Given the description of an element on the screen output the (x, y) to click on. 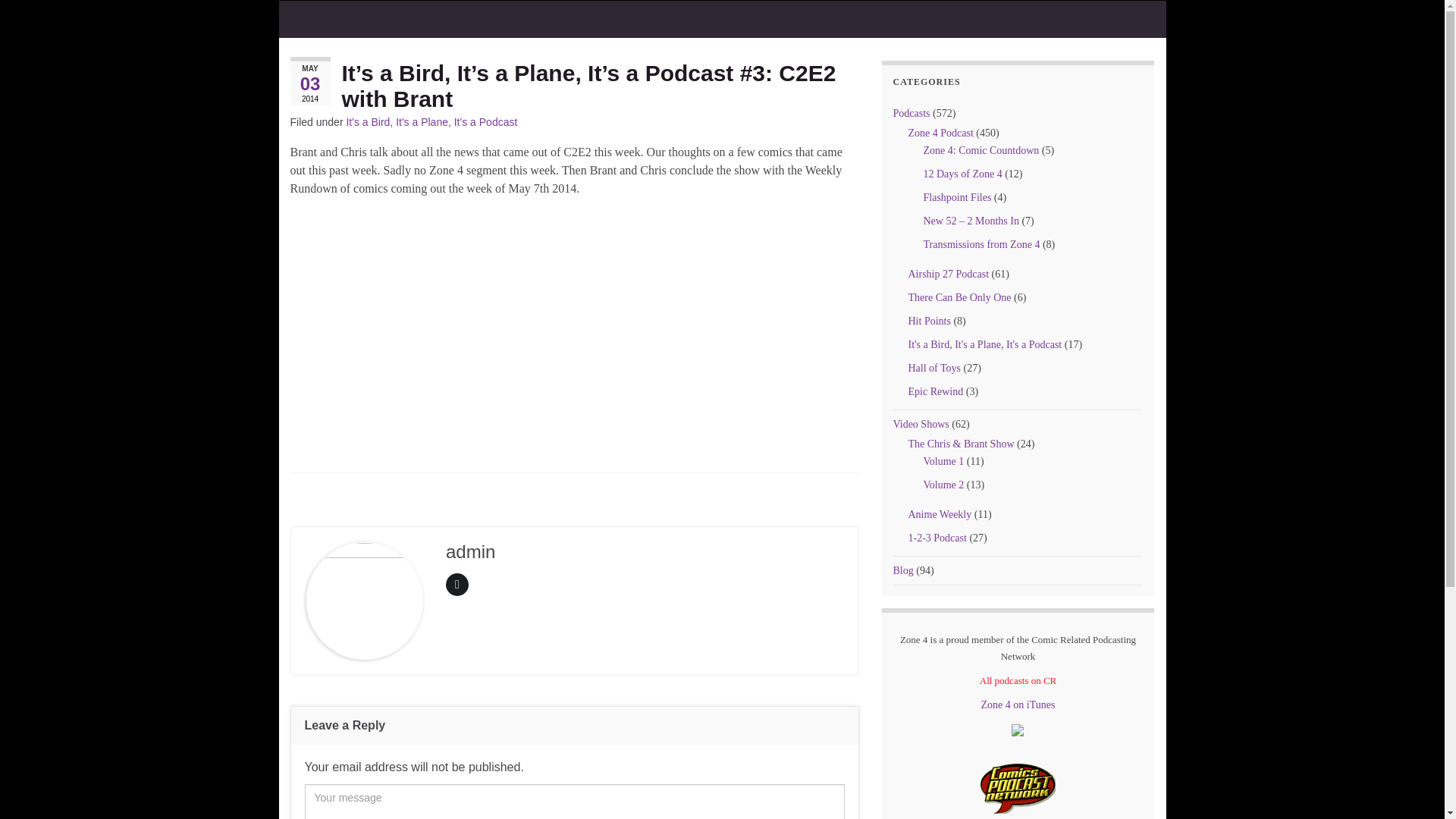
Hit Points (929, 320)
1-2-3 Podcast (937, 537)
There Can Be Only One (959, 297)
It's a Bird, It's a Plane, It's a Podcast (431, 121)
Airship 27 Podcast (949, 274)
Flashpoint Files (957, 197)
Volume 1 (943, 460)
It's a Bird, It's a Plane, It's a Podcast (985, 344)
All podcasts on CR (1018, 680)
Zone 4: Comic Countdown (981, 150)
